Given the description of an element on the screen output the (x, y) to click on. 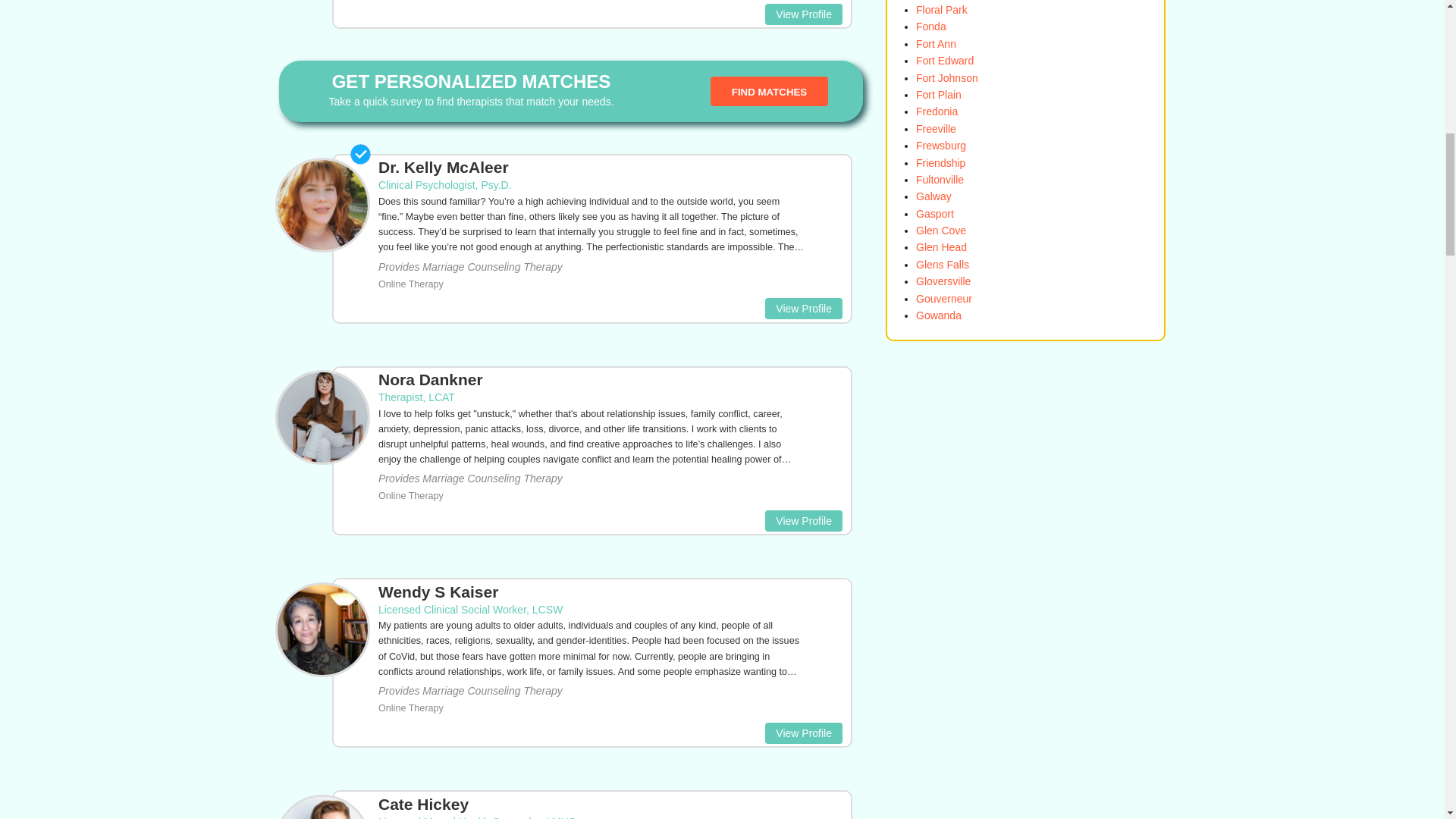
Dr. Kelly McAleer in Brooklyn, NY 11201 (804, 308)
Dr. Kelly McAleer in Brooklyn, NY 11201 (591, 224)
Search Therapists (769, 91)
View Profile (804, 731)
View Profile (804, 14)
View Profile (804, 308)
Alyson Curtis in Brooklyn, NY 11206 (804, 14)
FIND MATCHES (769, 91)
View Profile (804, 520)
